Given the description of an element on the screen output the (x, y) to click on. 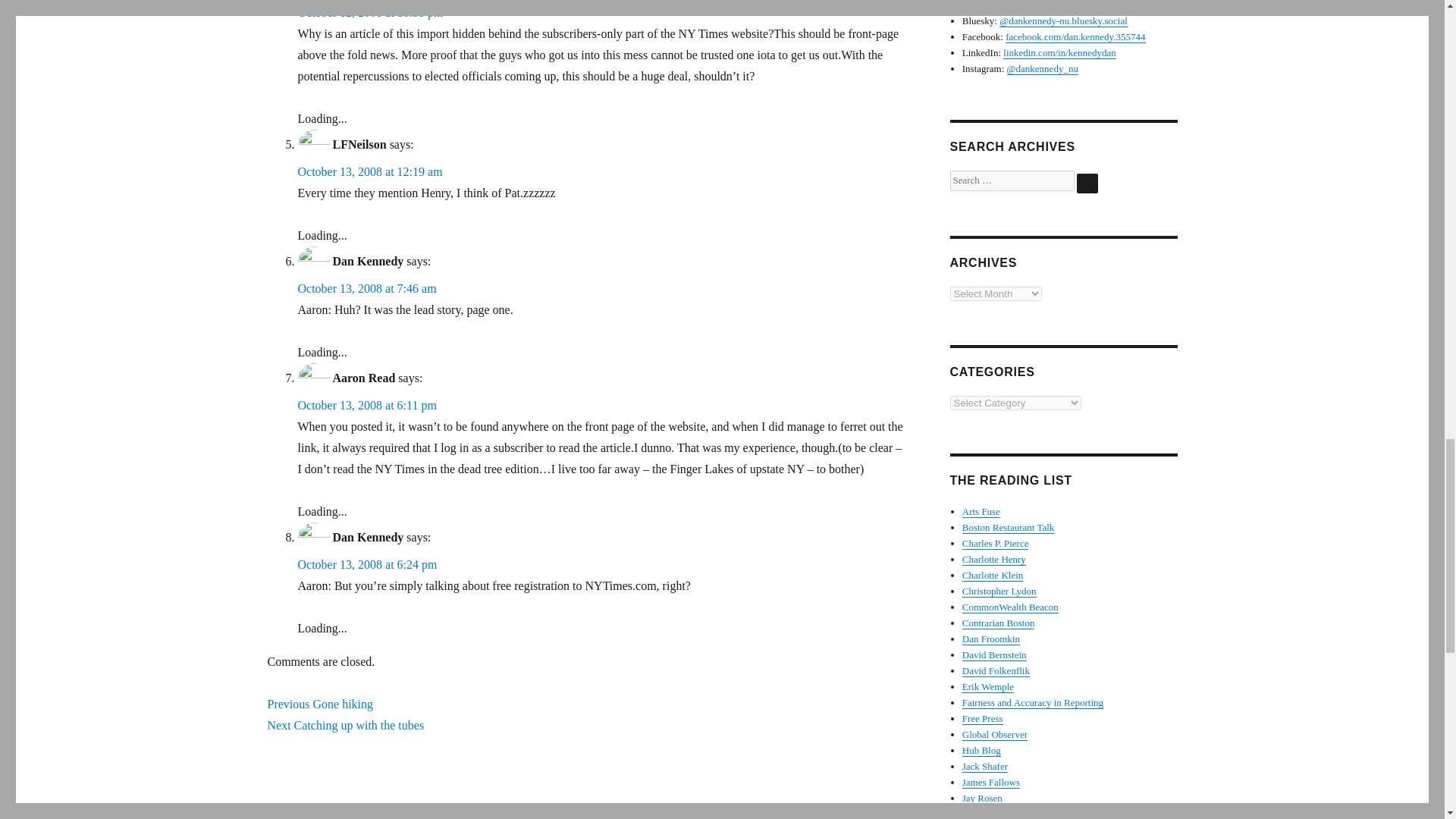
October 13, 2008 at 12:19 am (369, 171)
October 12, 2008 at 10:35 pm (369, 11)
